Given the description of an element on the screen output the (x, y) to click on. 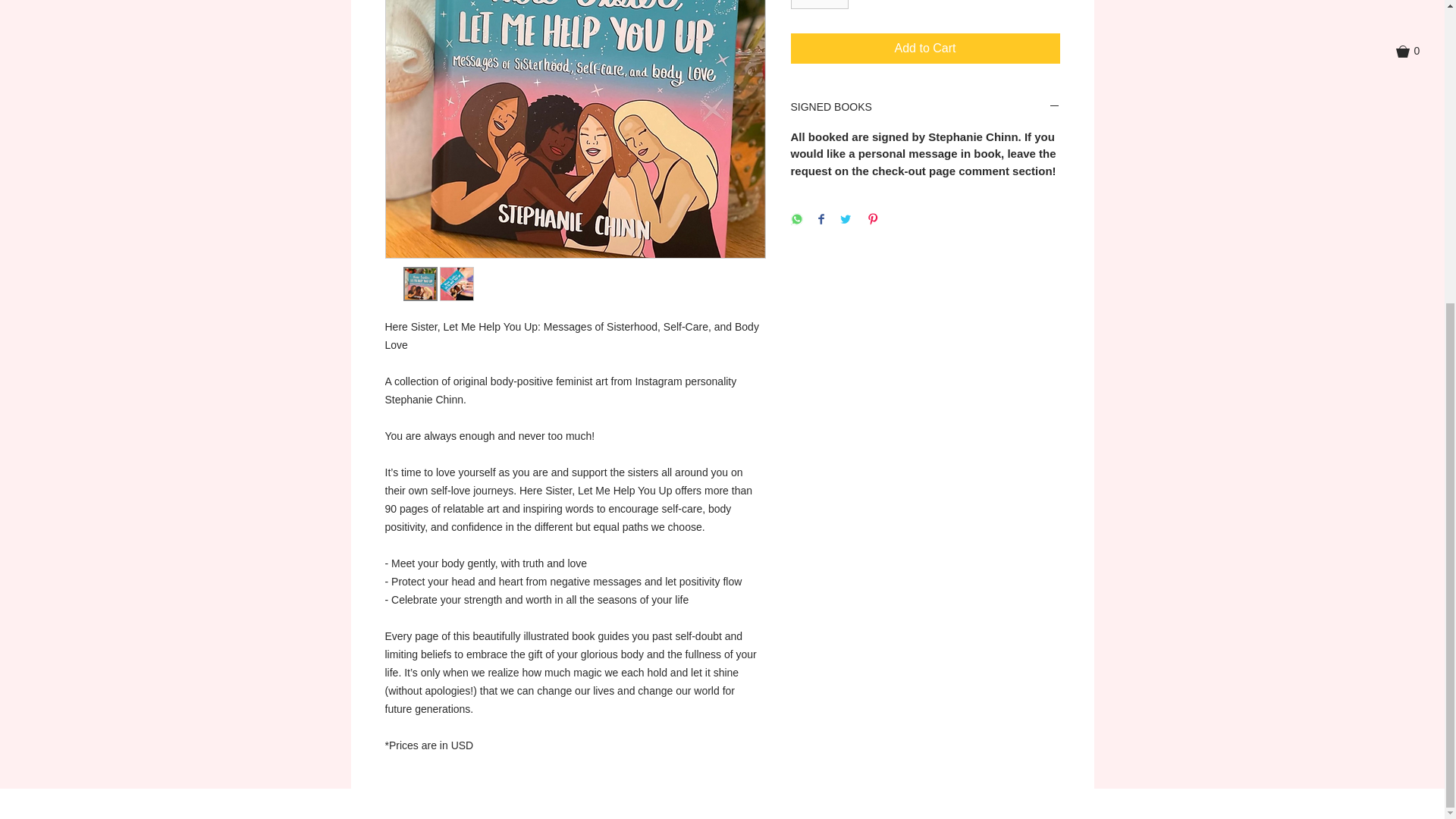
Add to Cart (924, 48)
SIGNED BOOKS (924, 107)
1 (818, 4)
